Given the description of an element on the screen output the (x, y) to click on. 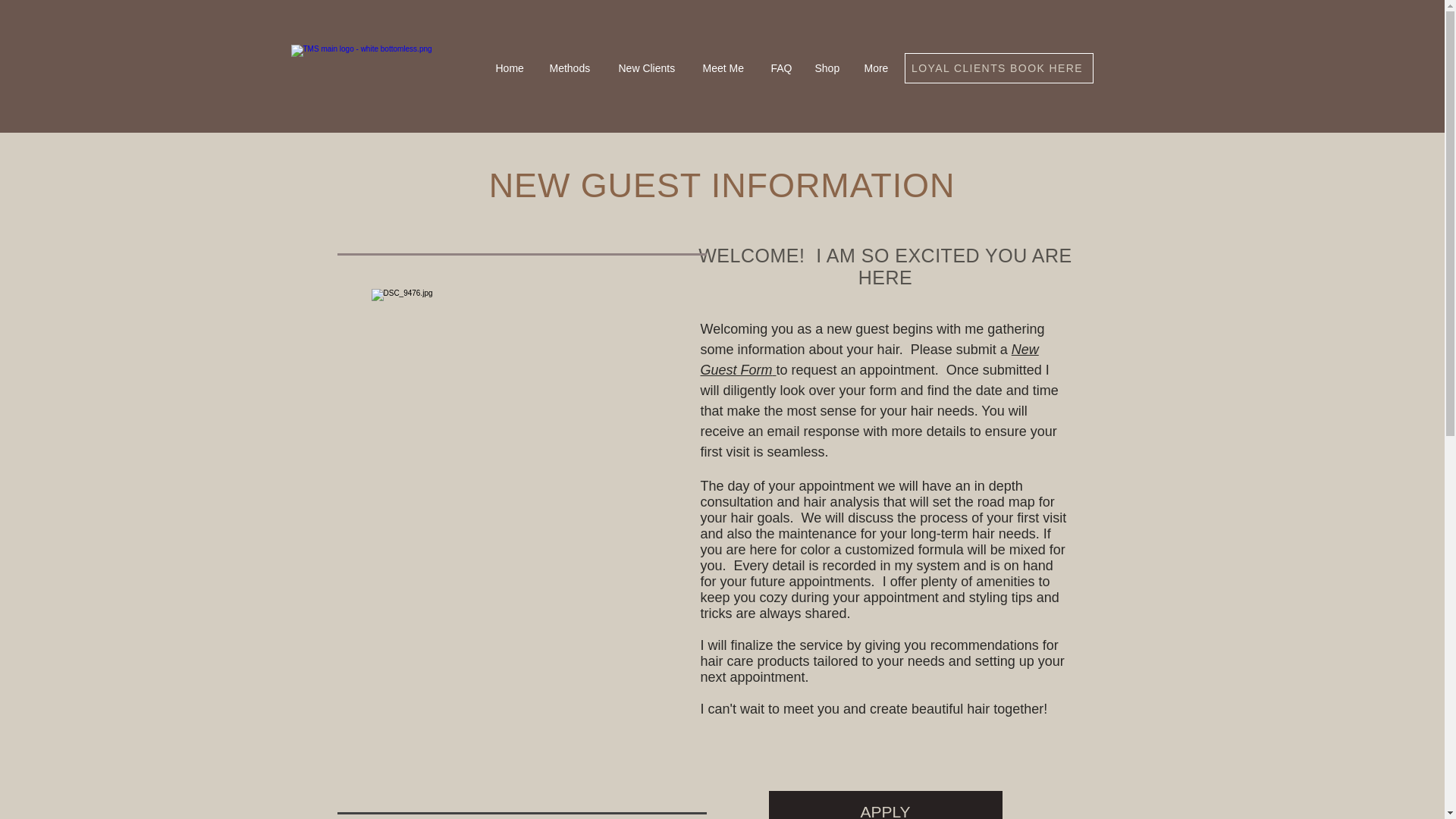
Meet Me (725, 68)
APPLY (885, 805)
Home (510, 68)
New Clients (648, 68)
LOYAL CLIENTS BOOK HERE (998, 68)
Shop (828, 68)
FAQ (781, 68)
New Guest Form (869, 359)
Methods (572, 68)
